Given the description of an element on the screen output the (x, y) to click on. 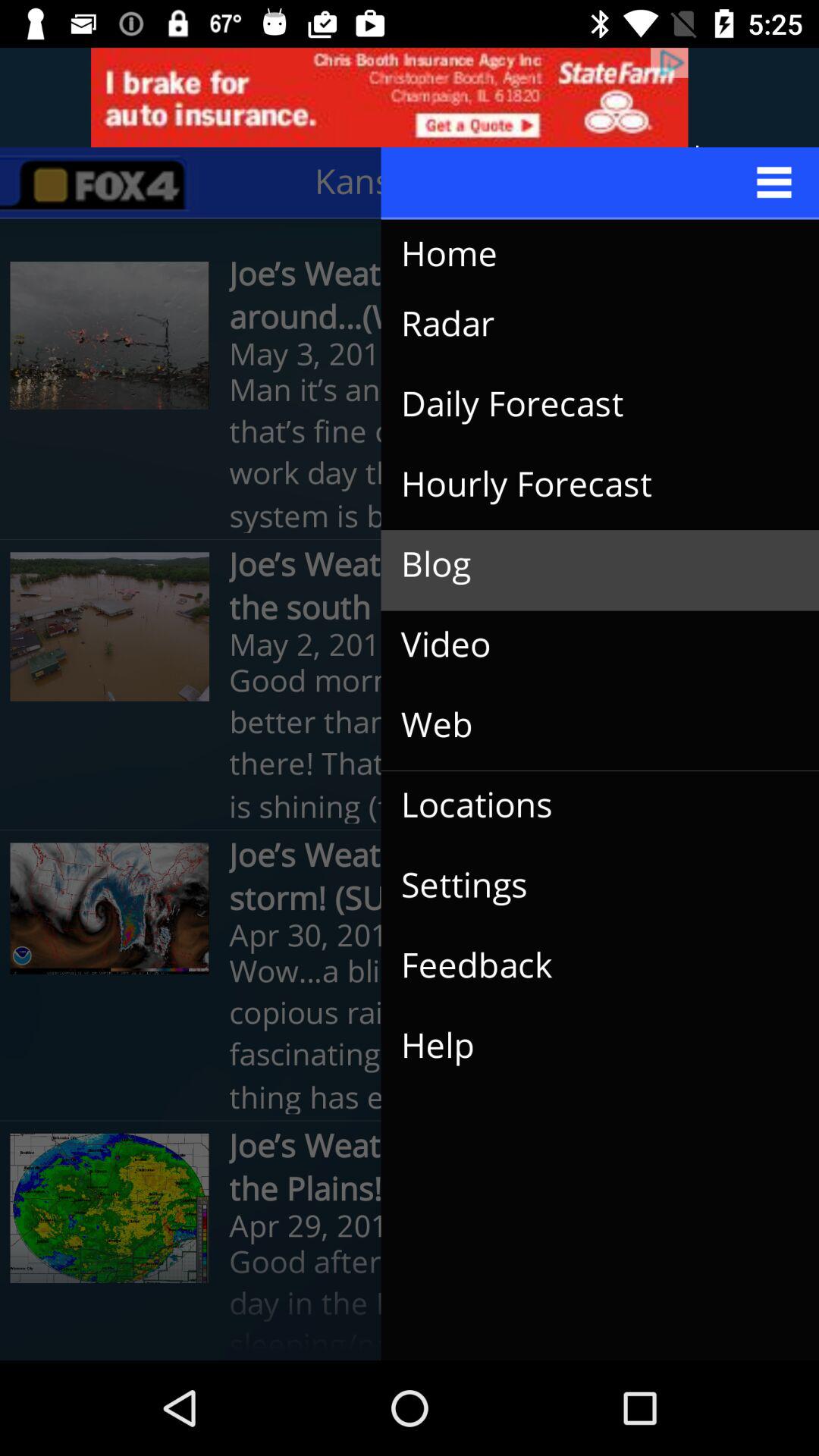
press daily forecast item (587, 404)
